Given the description of an element on the screen output the (x, y) to click on. 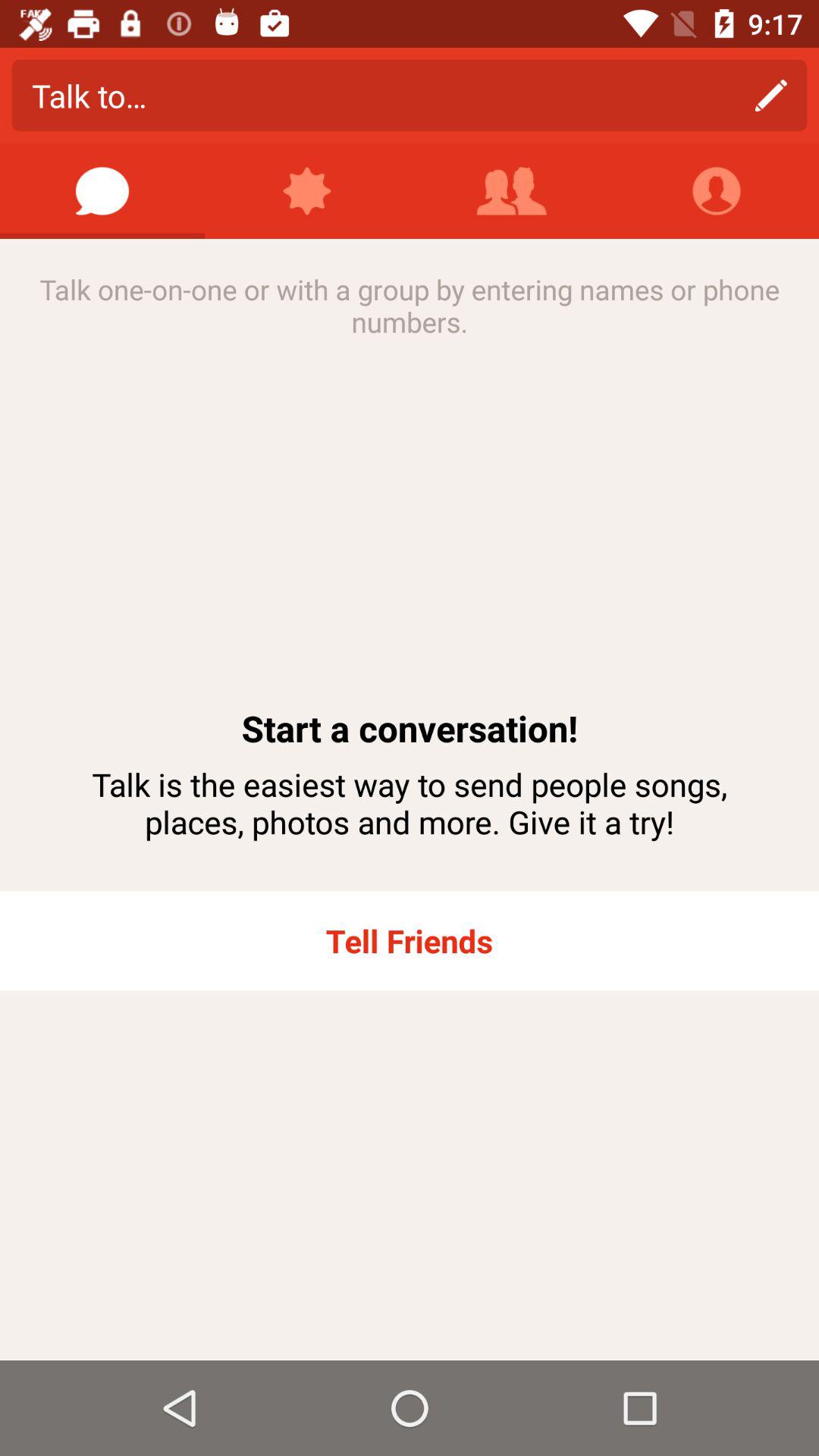
click the tell friends icon (409, 940)
